Given the description of an element on the screen output the (x, y) to click on. 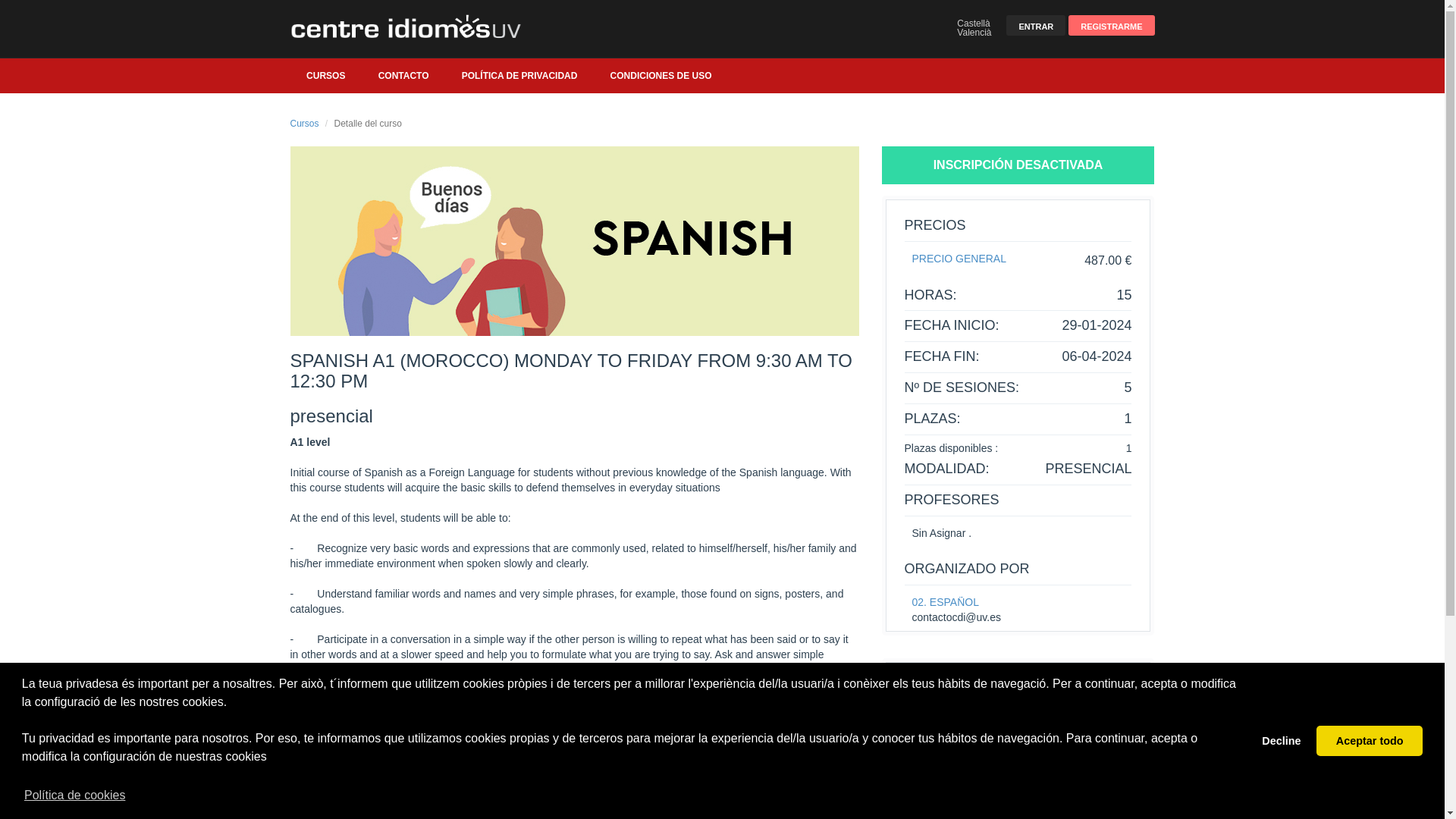
CURSOS (325, 75)
REGISTRARME (1111, 25)
ENTRAR (1035, 25)
Decline (1281, 740)
Aceptar todo (1369, 740)
Cursos (303, 122)
CONTACTO (403, 75)
CONDICIONES DE USO (661, 75)
PRECIO GENERAL (958, 258)
